Given the description of an element on the screen output the (x, y) to click on. 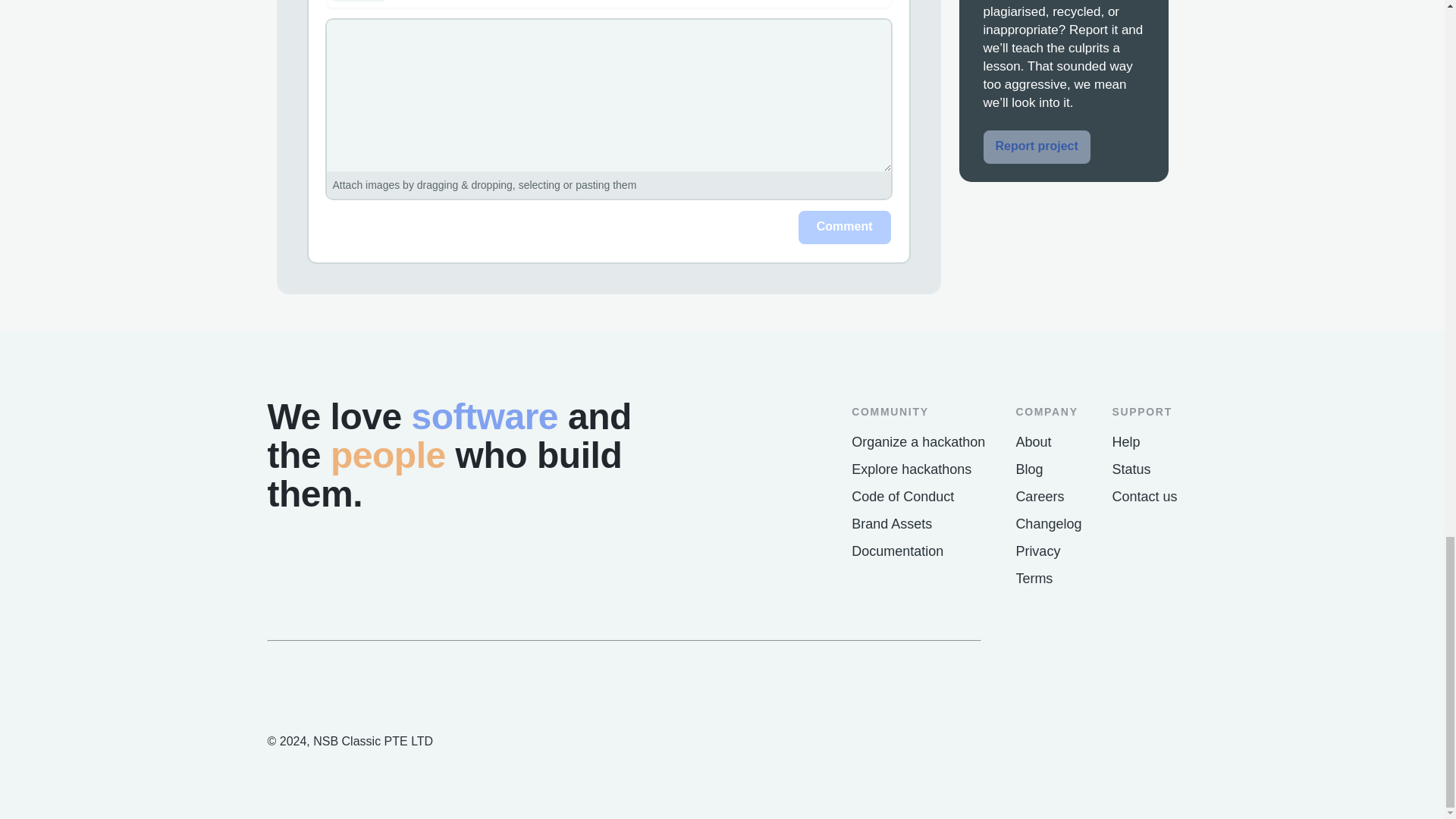
WRITE (358, 0)
Comment (844, 227)
PREVIEW (424, 0)
Report project (1035, 146)
